Given the description of an element on the screen output the (x, y) to click on. 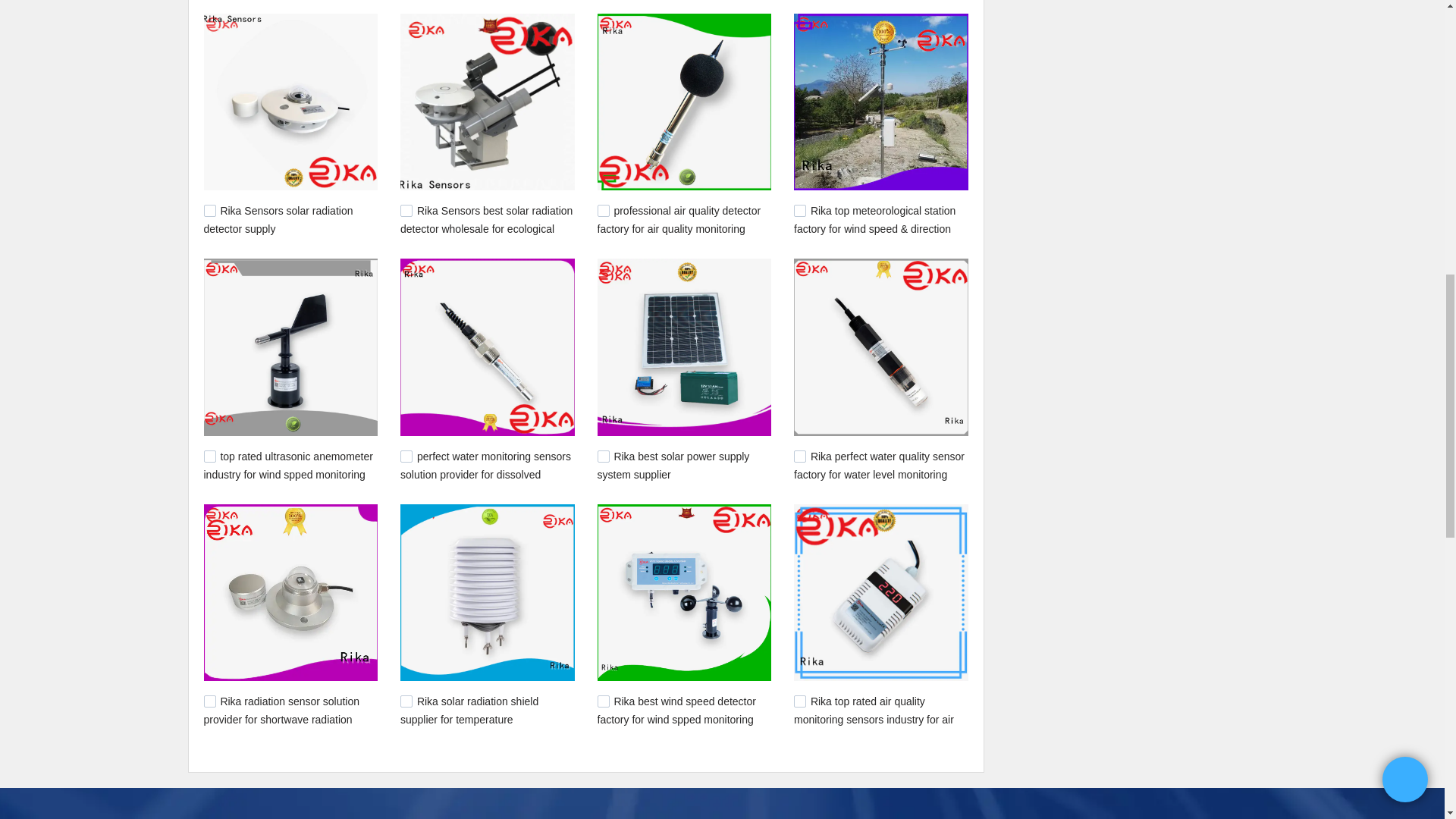
3334 (603, 456)
3115 (209, 456)
15203 (406, 210)
Rika Sensors solar radiation detector supply (277, 219)
3477 (799, 456)
3388 (603, 701)
3093 (799, 210)
3071 (603, 210)
Rika best solar power supply system supplier (672, 465)
